Given the description of an element on the screen output the (x, y) to click on. 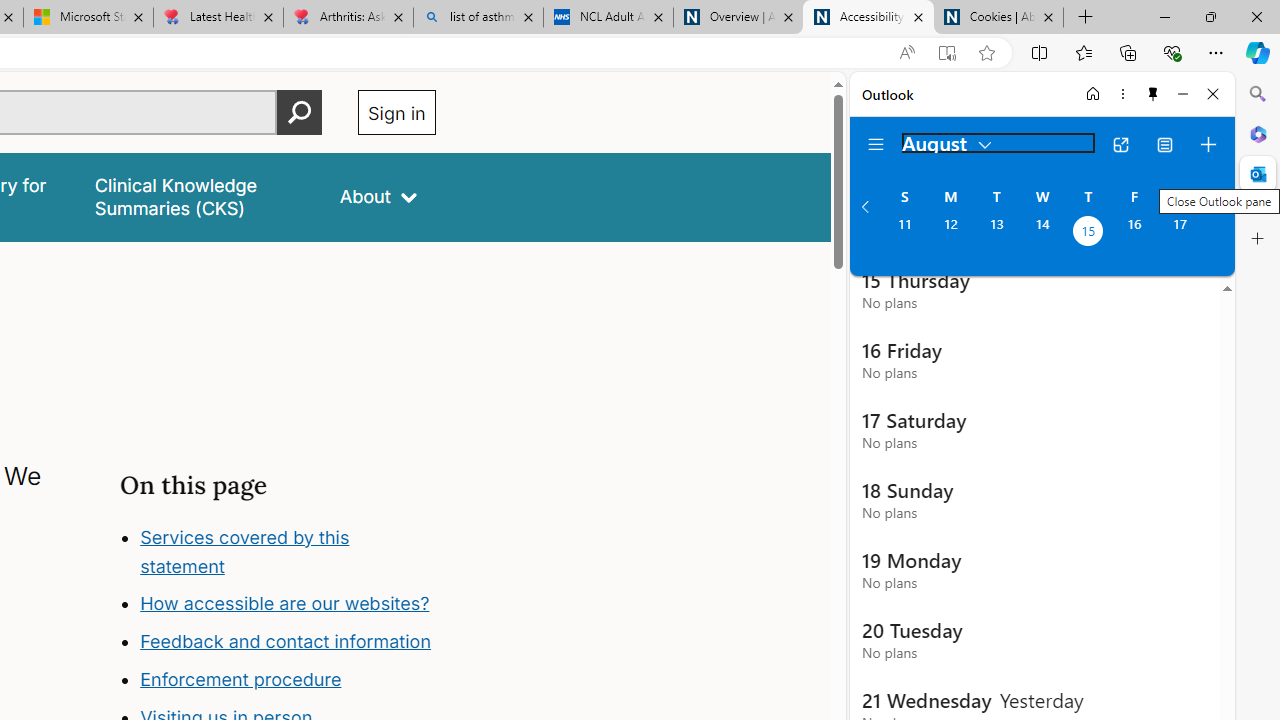
Thursday, August 15, 2024. Date selected.  (1088, 233)
Enforcement procedure (287, 680)
Feedback and contact information (285, 641)
About (378, 196)
